Given the description of an element on the screen output the (x, y) to click on. 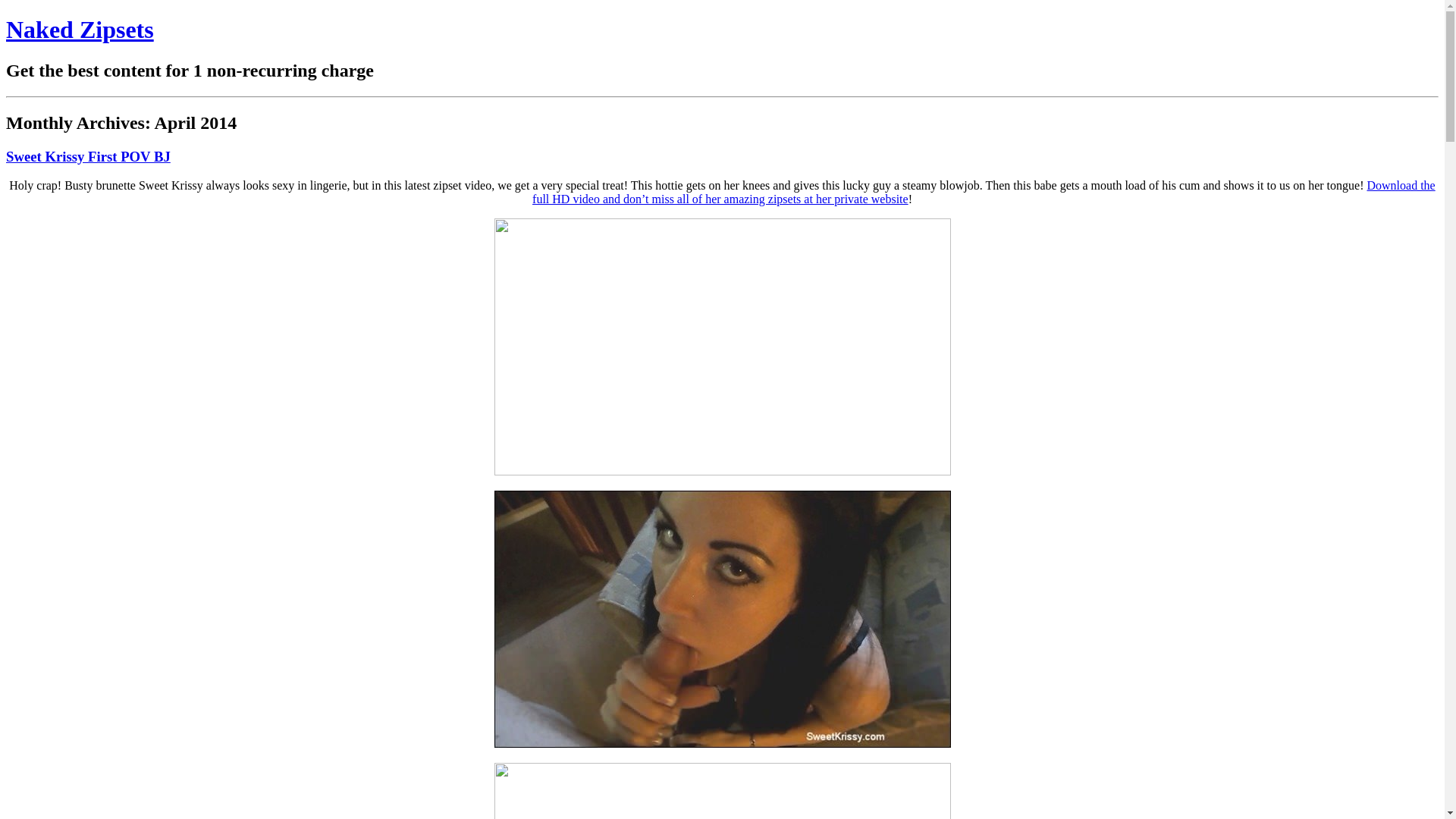
Naked Zipsets (79, 29)
Permalink to Sweet Krissy First POV BJ (87, 156)
Sweet Krissy First POV BJ (87, 156)
